Given the description of an element on the screen output the (x, y) to click on. 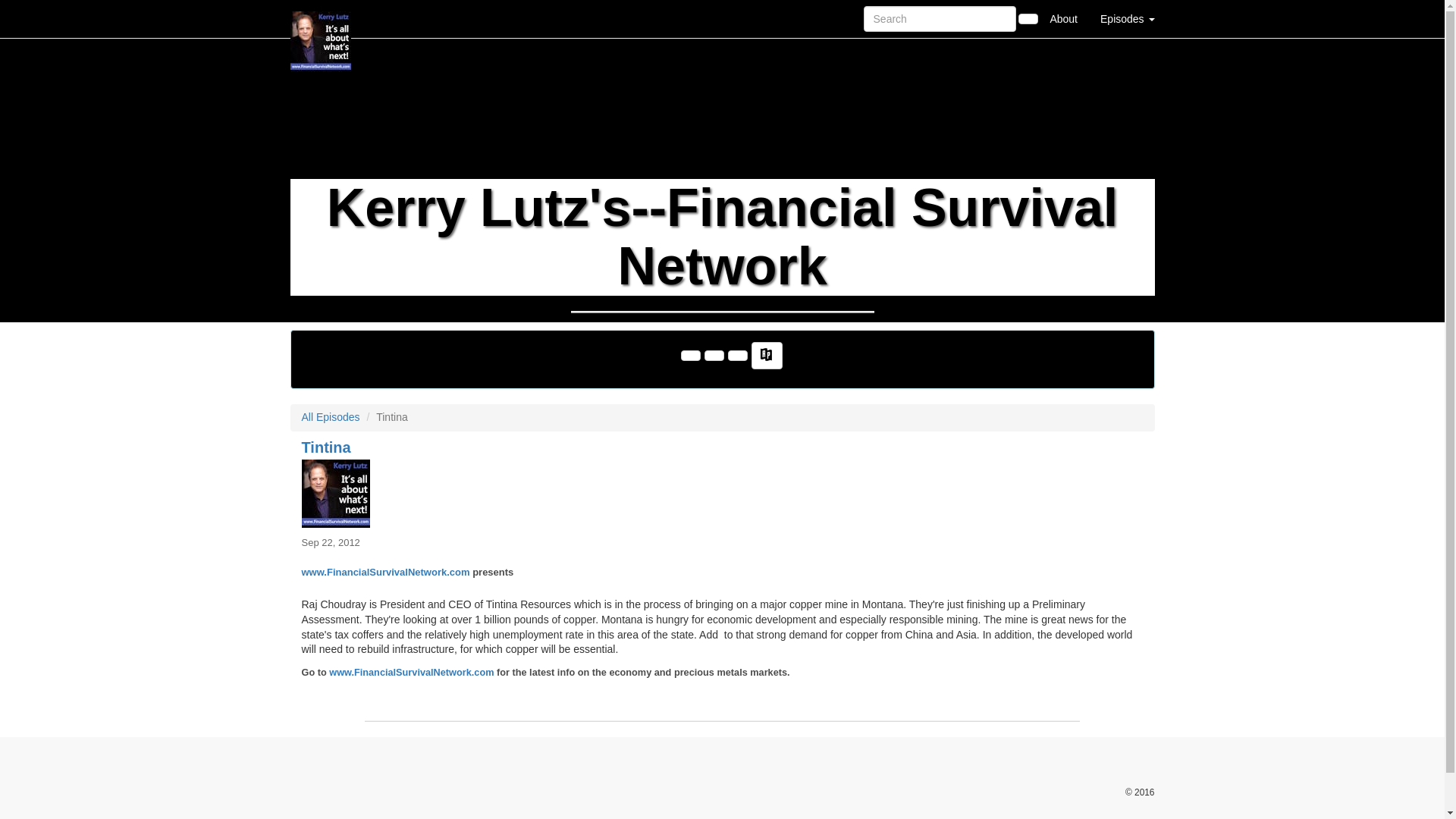
About (1063, 18)
Home Page (320, 18)
Episodes (1127, 18)
Tintina (721, 493)
